Given the description of an element on the screen output the (x, y) to click on. 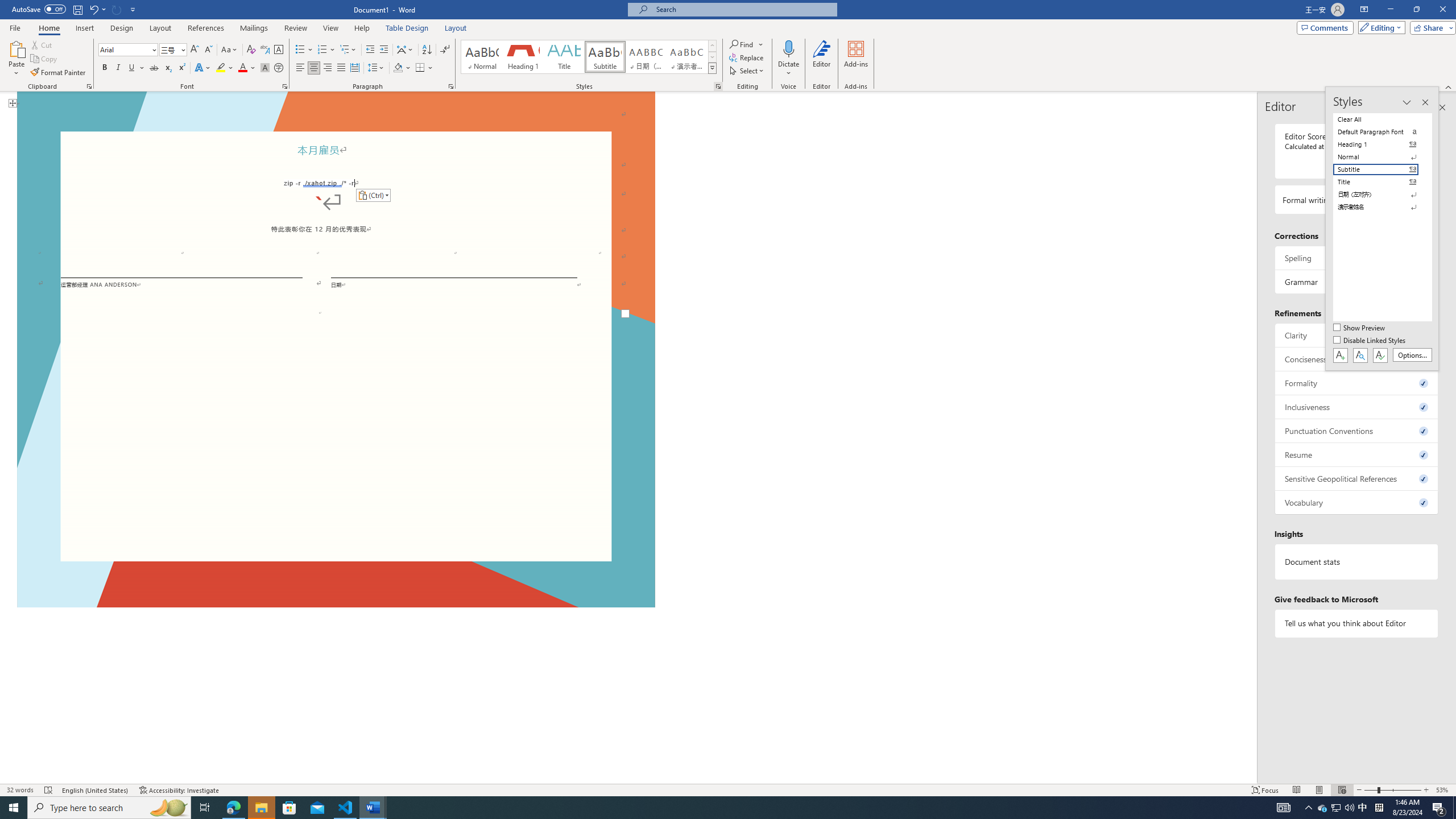
Document statistics (1356, 561)
Spelling and Grammar Check Errors (48, 790)
